Given the description of an element on the screen output the (x, y) to click on. 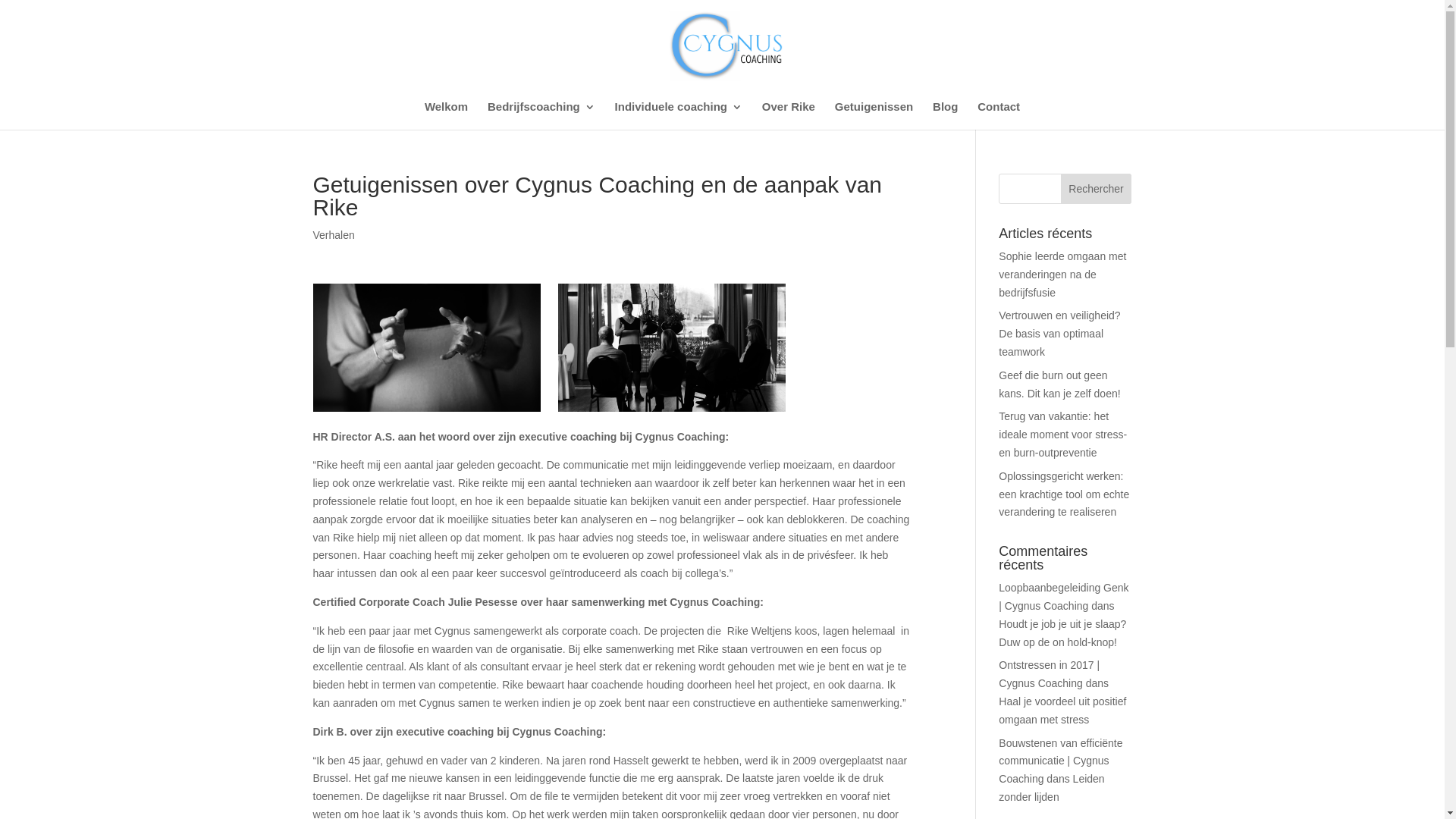
Houdt je job je uit je slaap? Duw op de on hold-knop! Element type: text (1062, 633)
Haal je voordeel uit positief omgaan met stress Element type: text (1062, 710)
Welkom Element type: text (445, 115)
Getuigenissen Element type: text (873, 115)
Bedrijfscoaching Element type: text (541, 115)
Blog Element type: text (944, 115)
Over Rike Element type: text (788, 115)
Sophie leerde omgaan met veranderingen na de bedrijfsfusie Element type: text (1062, 274)
Contact Element type: text (998, 115)
Geef die burn out geen kans. Dit kan je zelf doen! Element type: text (1059, 384)
Individuele coaching Element type: text (678, 115)
Ontstressen in 2017 | Cygnus Coaching Element type: text (1048, 673)
Vertrouwen en veiligheid? De basis van optimaal teamwork Element type: text (1059, 333)
Rechercher Element type: text (1096, 188)
Loopbaanbegeleiding Genk | Cygnus Coaching Element type: text (1063, 596)
Leiden zonder lijden Element type: text (1051, 787)
Verhalen Element type: text (333, 235)
